Given the description of an element on the screen output the (x, y) to click on. 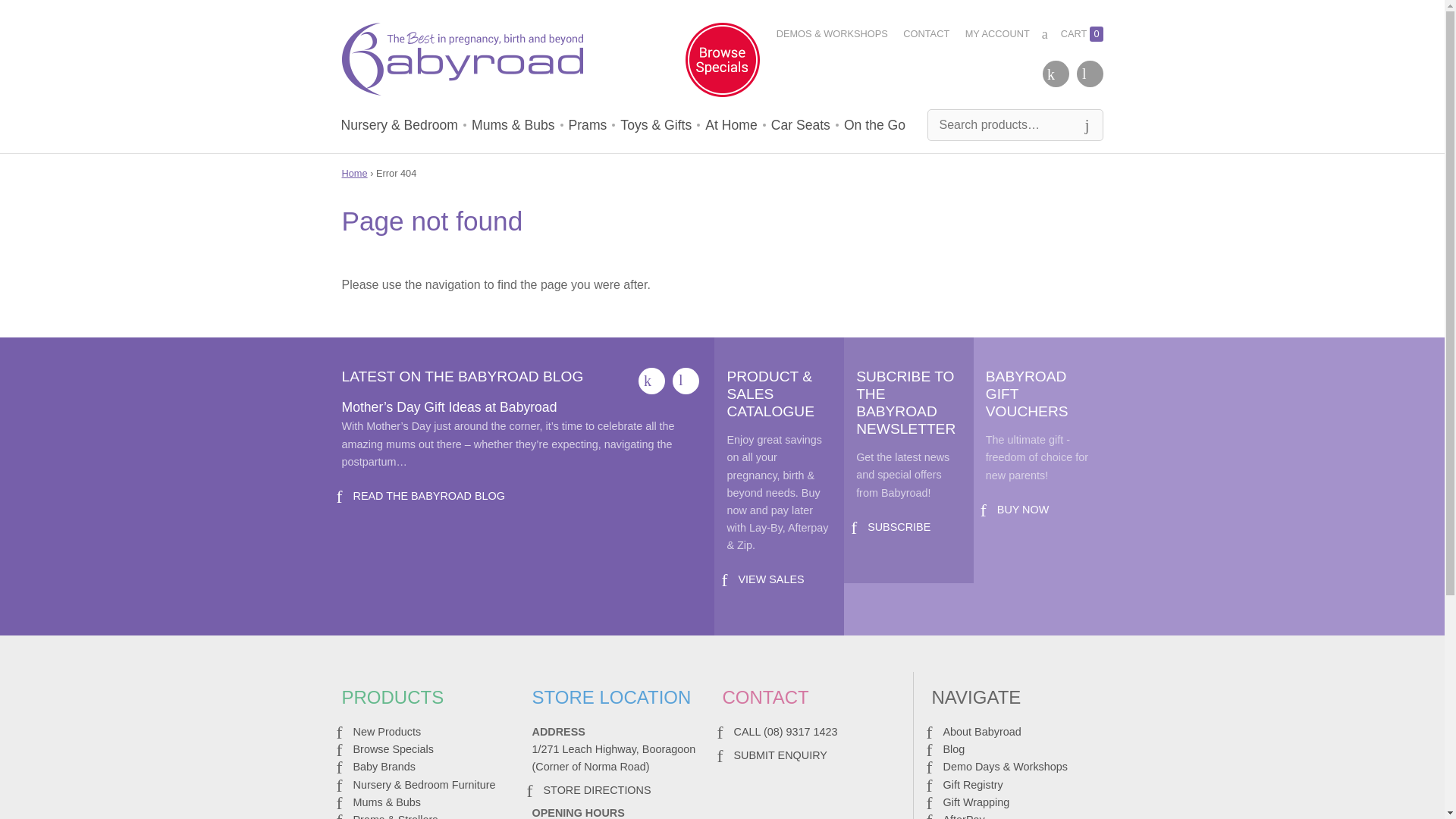
Babyroad on Facebook (1055, 73)
My Account (997, 33)
Cart (1072, 33)
SUBSCRIBE (898, 526)
Prams (588, 124)
Babyroad on Instagram (685, 380)
MY ACCOUNT (997, 33)
Subscribe (898, 526)
READ THE BABYROAD BLO (429, 495)
View (770, 579)
READ THE BABYROAD BLOG (429, 495)
Babyroad on Facebook (652, 380)
BUY NOW (1023, 509)
Babyroad on Instagram (1090, 73)
CART0 (1072, 33)
